Given the description of an element on the screen output the (x, y) to click on. 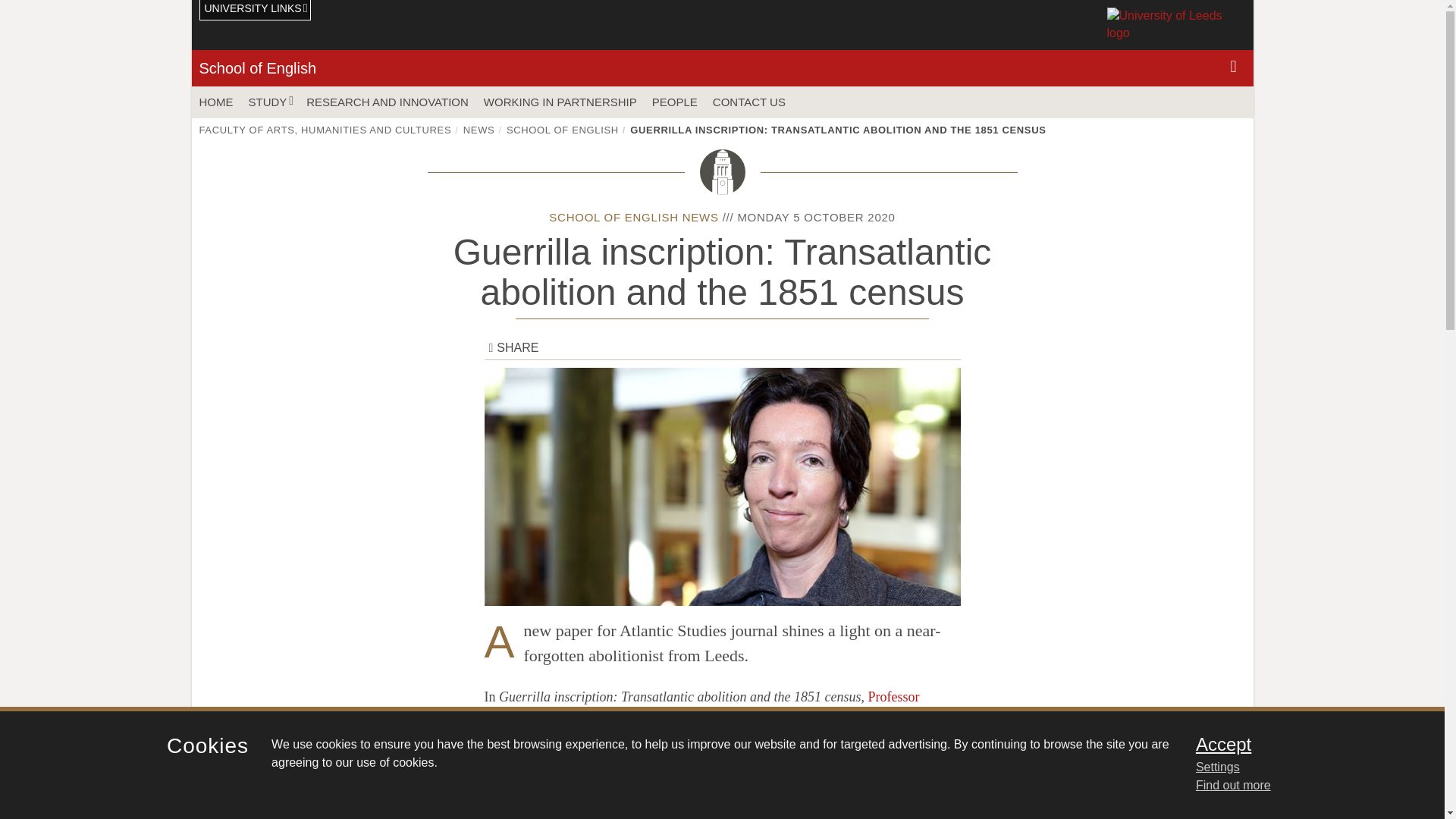
Find out more (1233, 784)
Settings (1300, 767)
UNIVERSITY LINKS (254, 10)
Accept (1300, 744)
University of Leeds homepage (1176, 24)
